Given the description of an element on the screen output the (x, y) to click on. 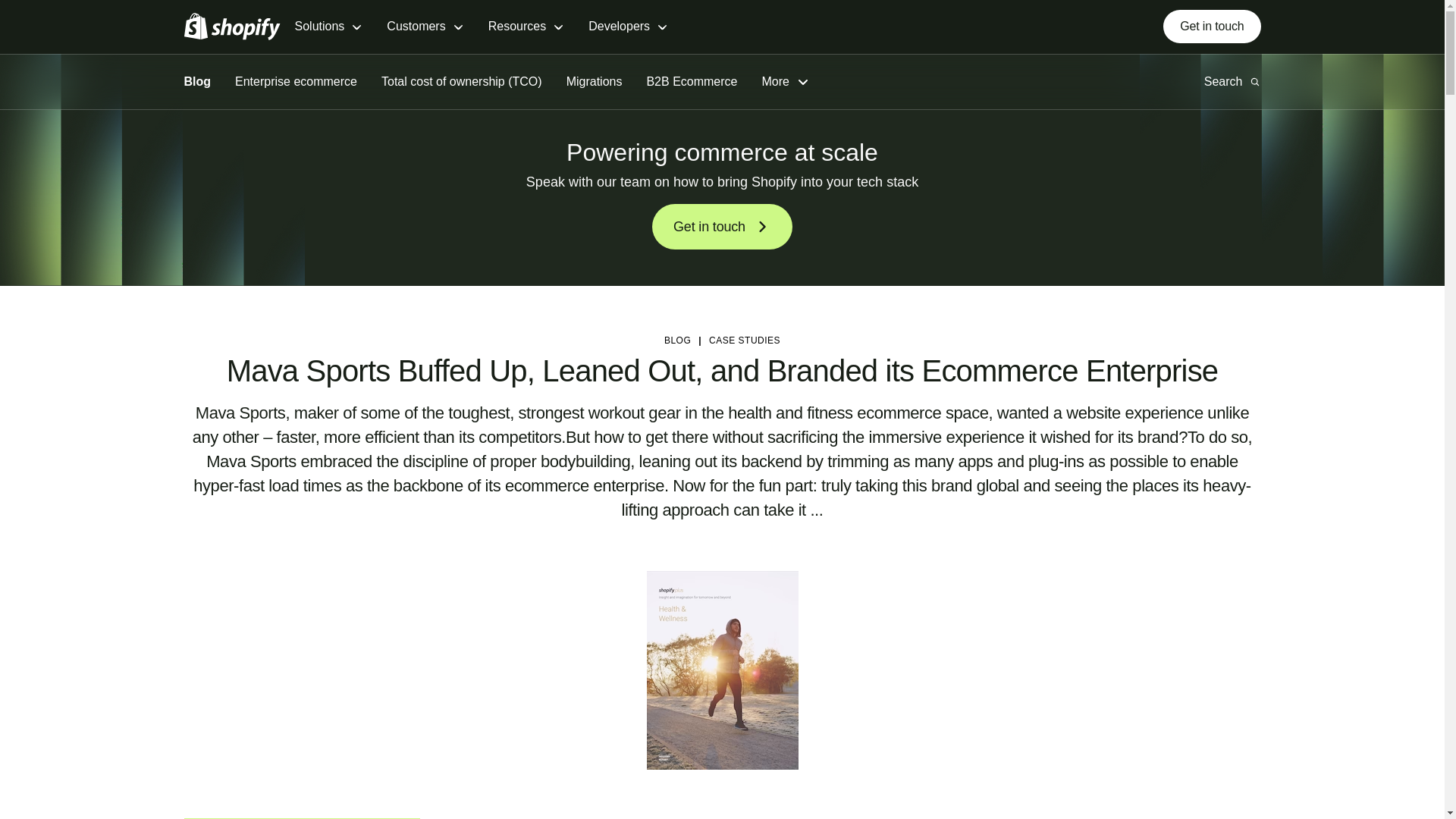
Resources (525, 27)
Solutions (328, 27)
Customers (425, 27)
Developers (628, 27)
